Given the description of an element on the screen output the (x, y) to click on. 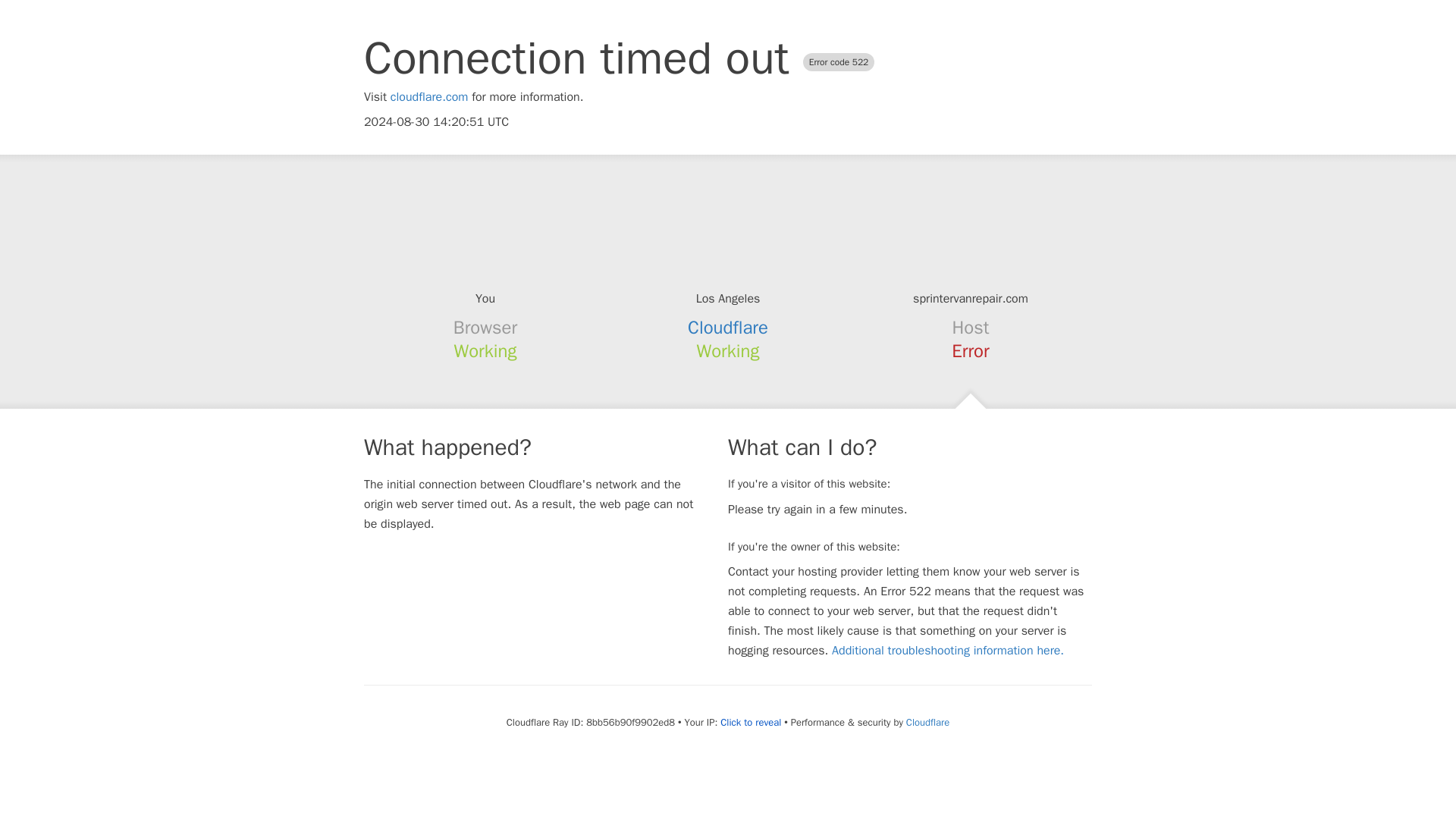
Cloudflare (927, 721)
Additional troubleshooting information here. (947, 650)
Click to reveal (750, 722)
cloudflare.com (429, 96)
Cloudflare (727, 327)
